Given the description of an element on the screen output the (x, y) to click on. 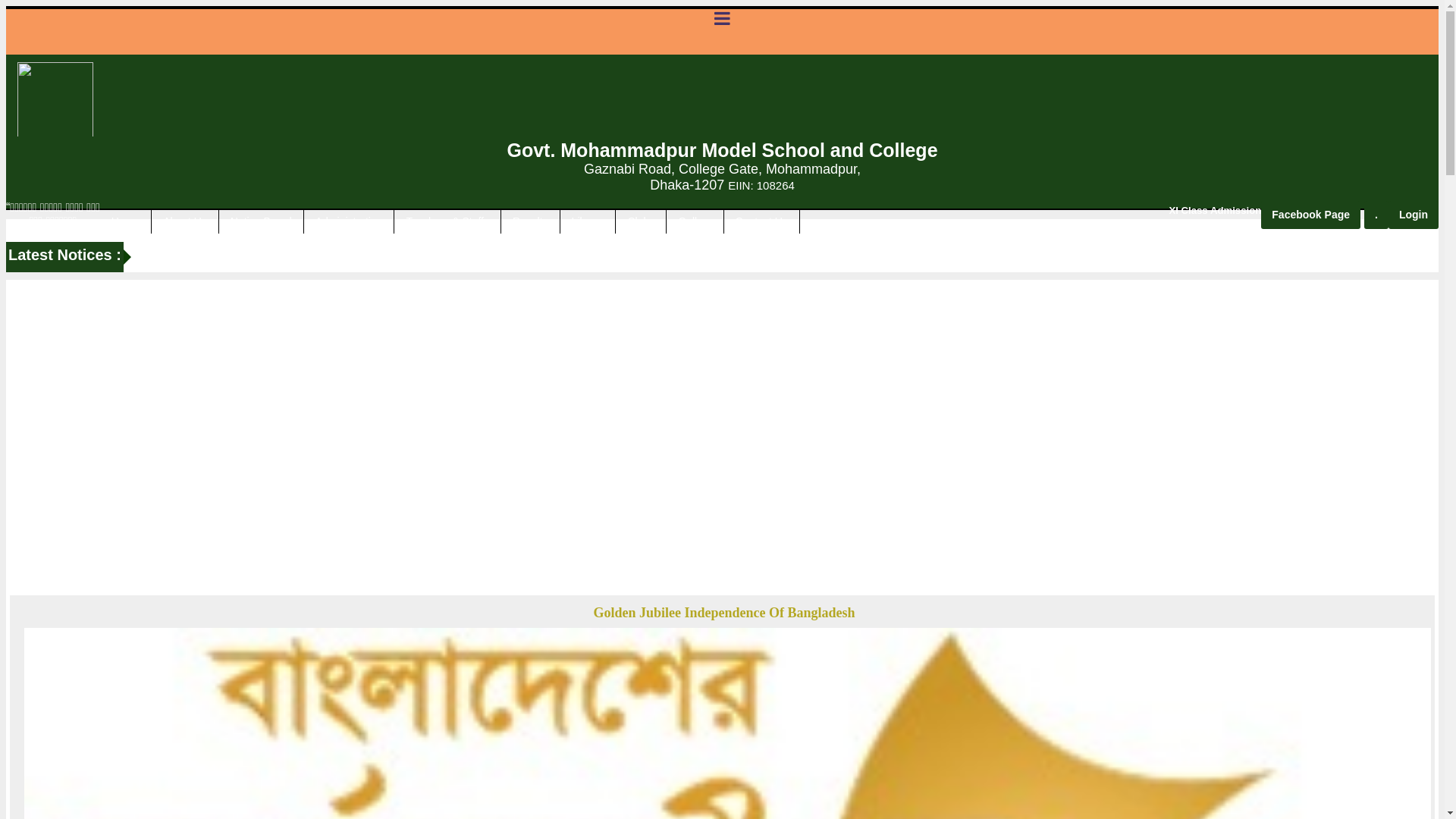
Facebook Page Element type: text (1310, 214)
Clubs Element type: text (640, 221)
Library Element type: text (587, 221)
About Us Element type: text (184, 221)
Notice Board Element type: text (261, 221)
Home Element type: text (125, 221)
Contact Us Element type: text (761, 221)
Administration Element type: text (349, 221)
Results Element type: text (530, 221)
. Element type: text (1376, 214)
Teachers & Staffs Element type: text (446, 221)
Gallery Element type: text (694, 221)
XI Class Admission Element type: text (1214, 210)
Login Element type: text (1413, 214)
